Given the description of an element on the screen output the (x, y) to click on. 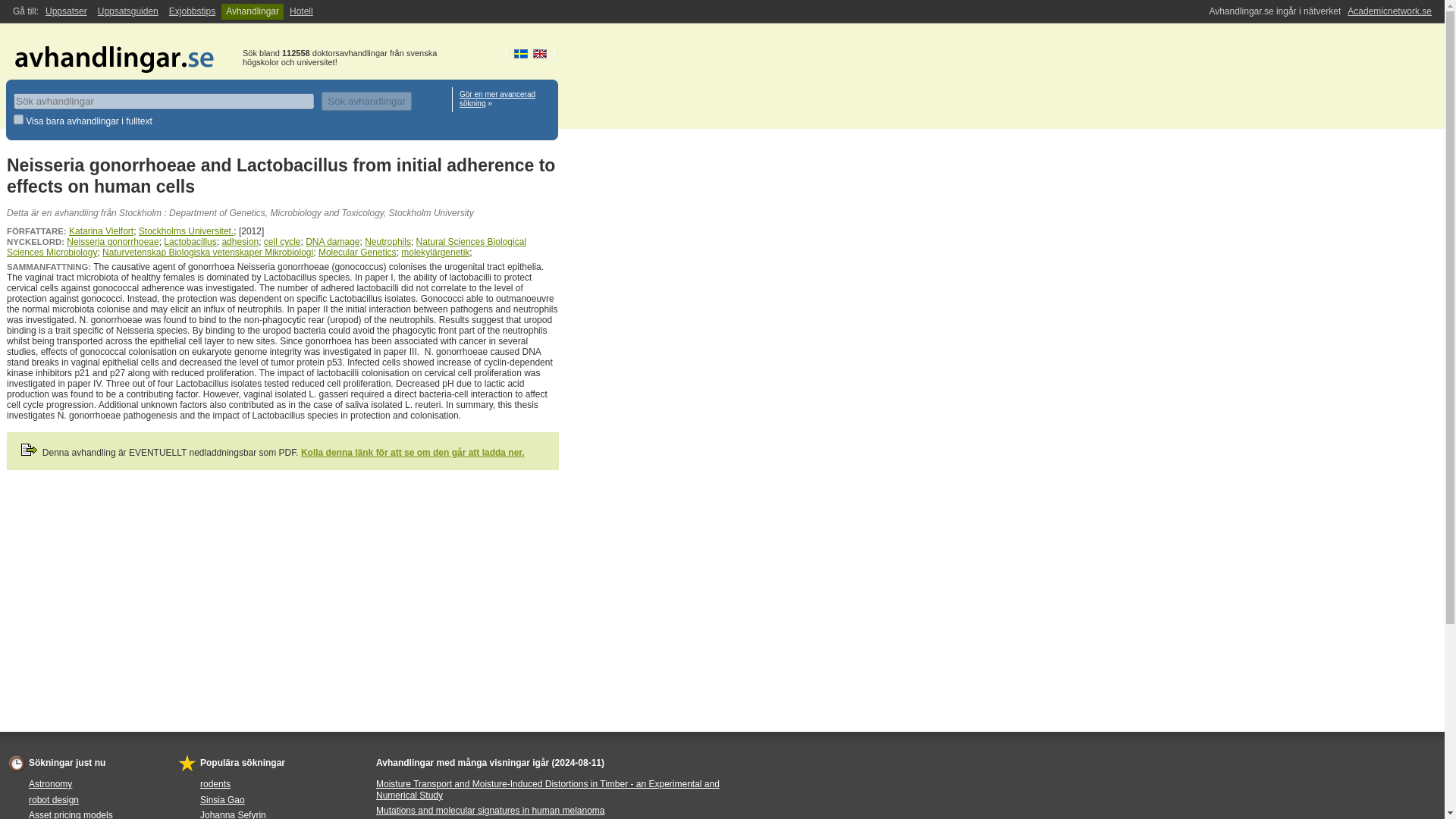
Naturvetenskap Biologiska vetenskaper Mikrobiologi (207, 252)
Hotell (301, 11)
Neutrophils (387, 241)
y (18, 119)
robot design (53, 799)
Katarina Vielfort (100, 231)
Johanna Sefyrin (233, 814)
Uppsatser (65, 11)
Neisseria gonorrhoeae (112, 241)
Molecular Genetics (357, 252)
